Given the description of an element on the screen output the (x, y) to click on. 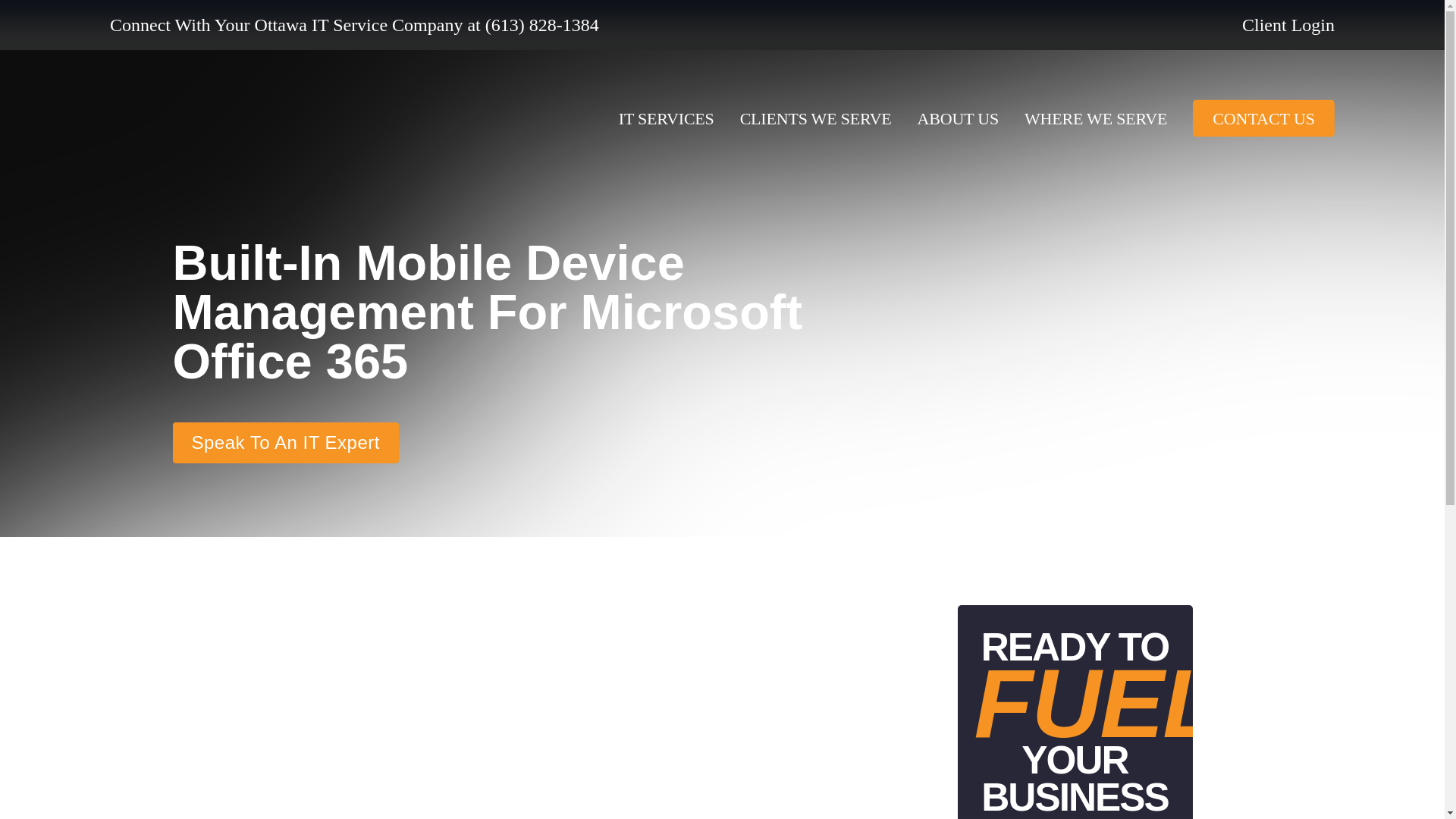
Speak To An IT Expert (285, 464)
Client Login (1288, 25)
CONTACT US (1263, 118)
IT SERVICES (666, 118)
WHERE WE SERVE (1096, 118)
ABOUT US (957, 118)
CLIENTS WE SERVE (815, 118)
